Given the description of an element on the screen output the (x, y) to click on. 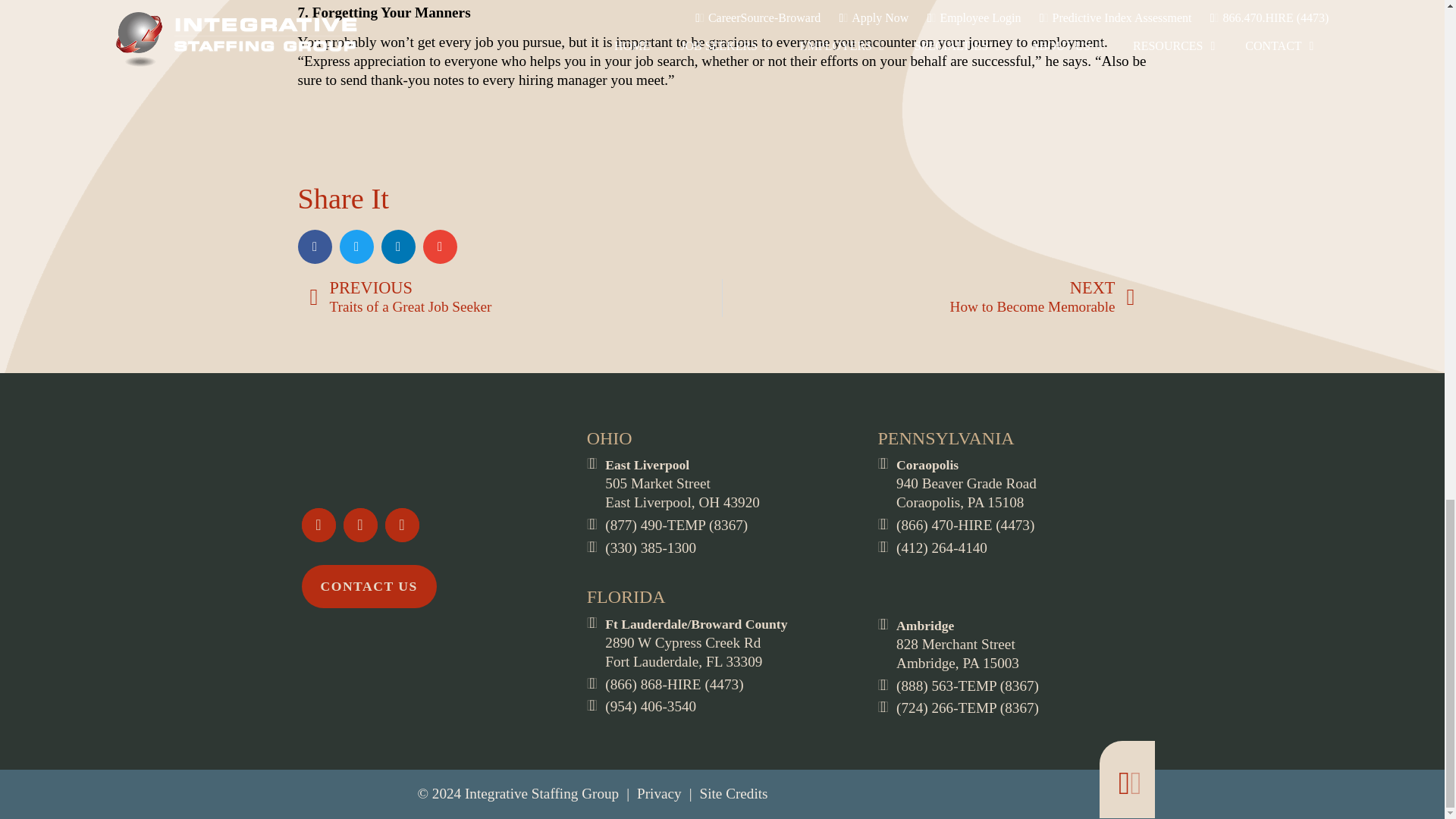
Our Blog (402, 524)
Follow Integrative Staffing Group, LLC on Facebook (318, 524)
Connect with Integrative Staffing Group, LLC on LinkedIn (359, 524)
